Given the description of an element on the screen output the (x, y) to click on. 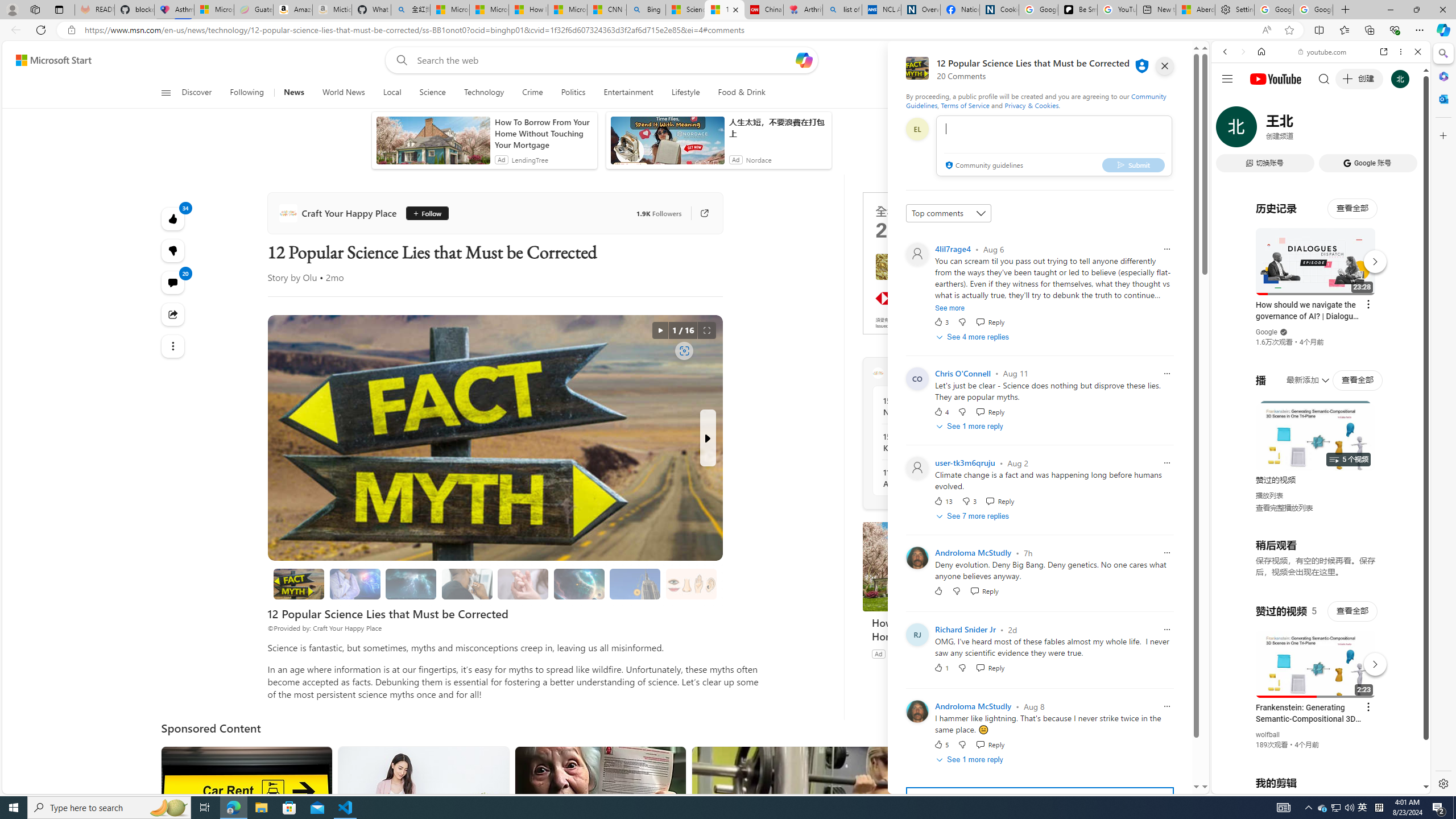
Brain Myths (354, 583)
Community Guidelines (1035, 100)
AutomationID: canvas (947, 263)
Google (1266, 331)
Show More Music (1390, 310)
4 Like (940, 411)
